Given the description of an element on the screen output the (x, y) to click on. 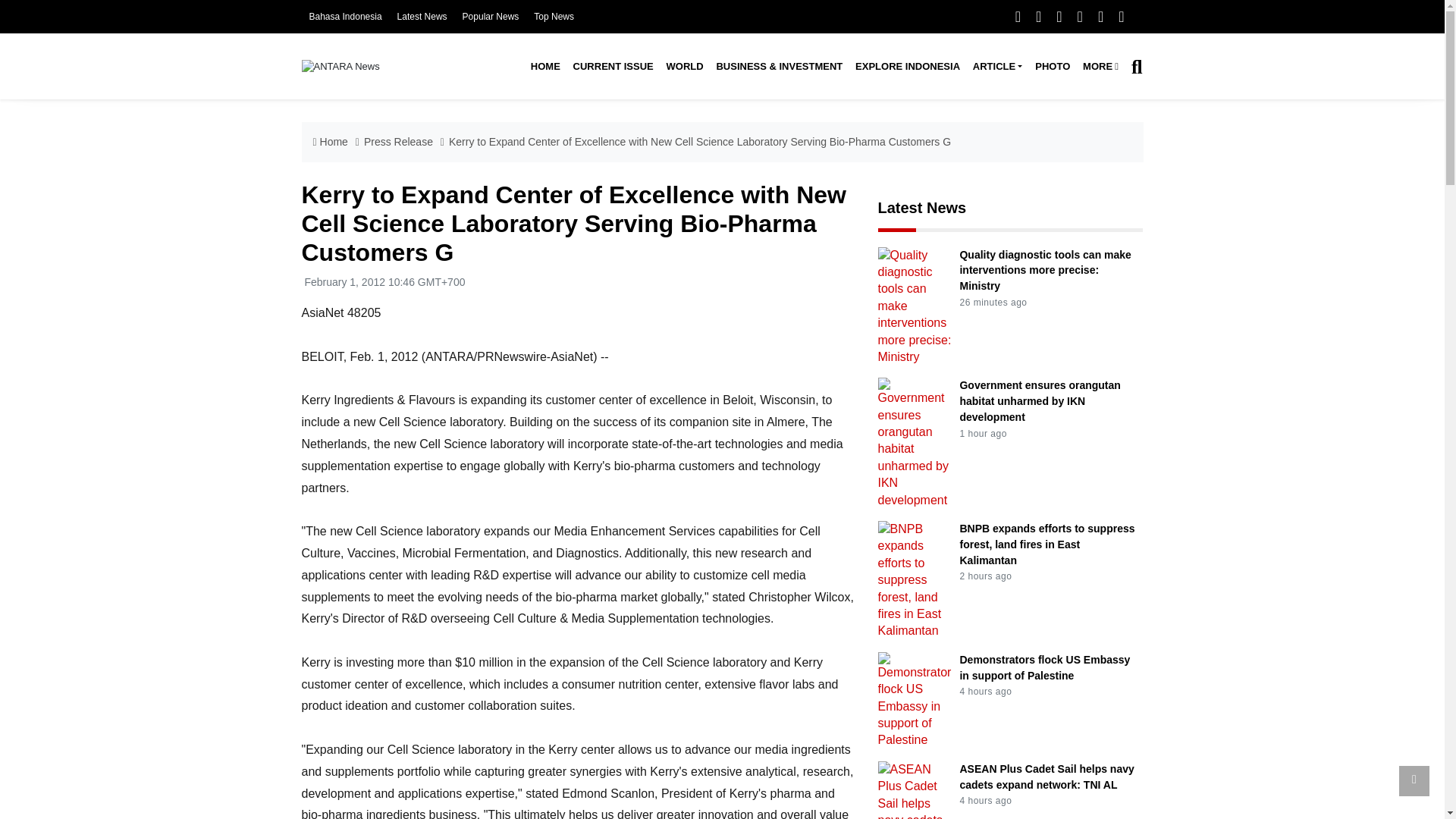
Explore Indonesia (907, 66)
Bahasa Indonesia (344, 16)
Top News (553, 16)
Top News (553, 16)
Latest News (421, 16)
Current Issue (612, 66)
Article (996, 66)
EXPLORE INDONESIA (907, 66)
Bahasa Indonesia (344, 16)
CURRENT ISSUE (612, 66)
ARTICLE (996, 66)
Popular News (491, 16)
ANTARA News (340, 66)
Popular News (491, 16)
